Given the description of an element on the screen output the (x, y) to click on. 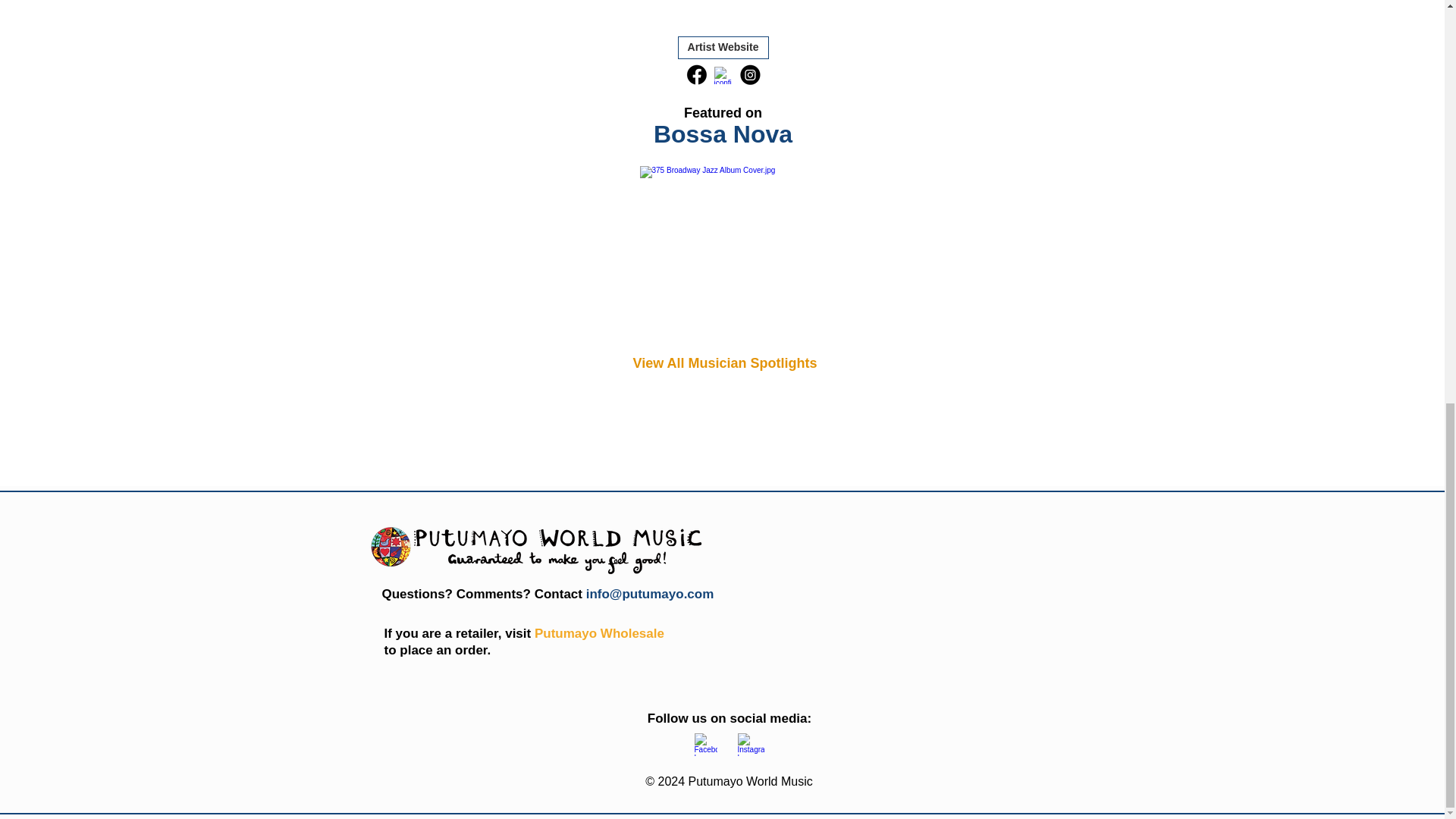
Putumayo Facebook Logo.png (749, 744)
View All Musician Spotlights (723, 363)
Putumayo Facebook Logo.png (705, 744)
Putumayo Wholesale (598, 633)
Follow us on social media: (728, 718)
Artist Website (723, 47)
